Given the description of an element on the screen output the (x, y) to click on. 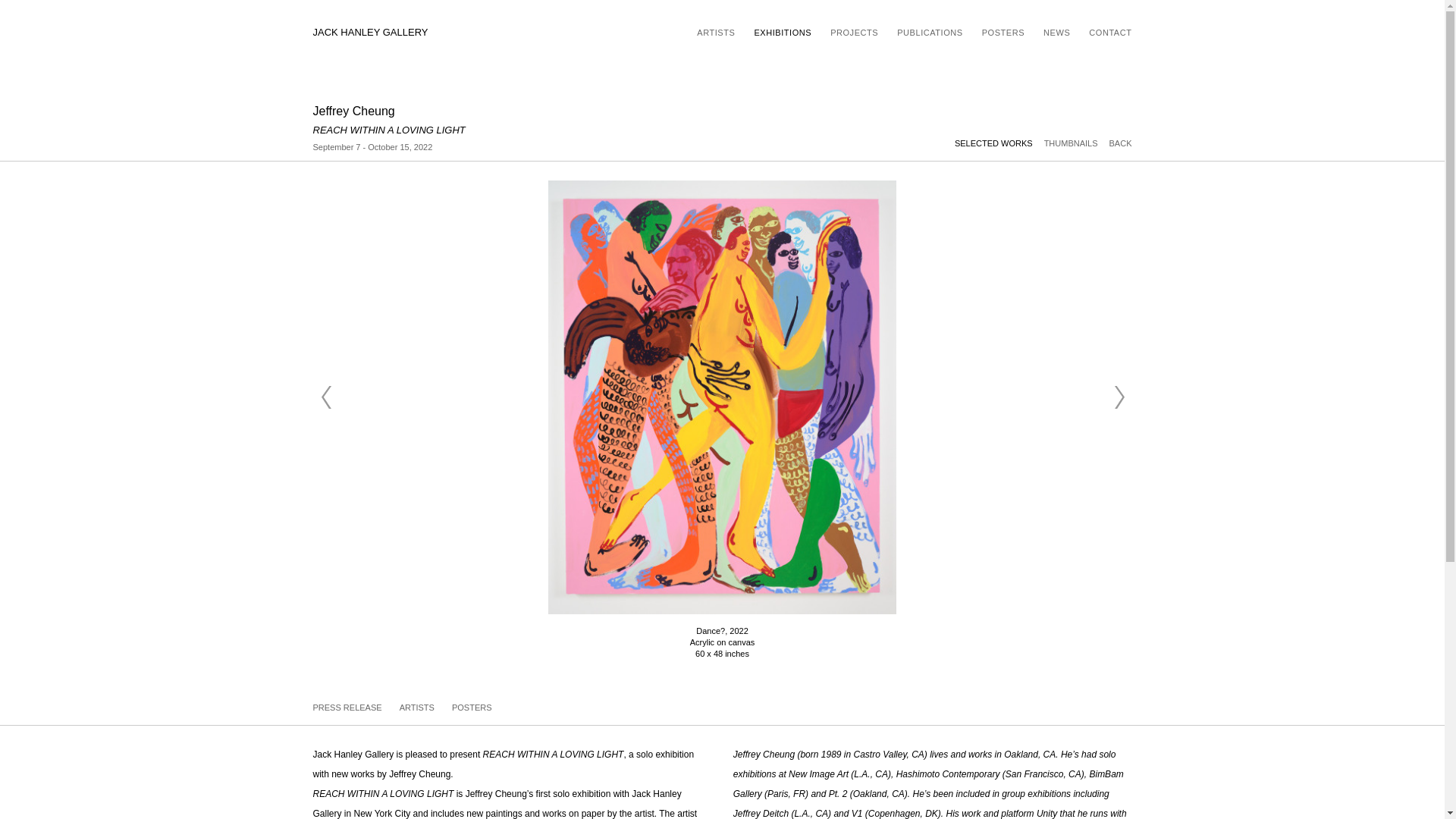
PUBLICATIONS (929, 31)
POSTERS (471, 706)
CONTACT (1110, 31)
PROJECTS (853, 31)
EXHIBITIONS (782, 31)
SELECTED WORKS (999, 143)
NEWS (1056, 31)
PRESS RELEASE (348, 706)
JACK HANLEY GALLERY (370, 32)
THUMBNAILS (1076, 143)
ARTISTS (716, 31)
POSTERS (1003, 31)
ARTISTS (417, 706)
BACK (1120, 143)
